Given the description of an element on the screen output the (x, y) to click on. 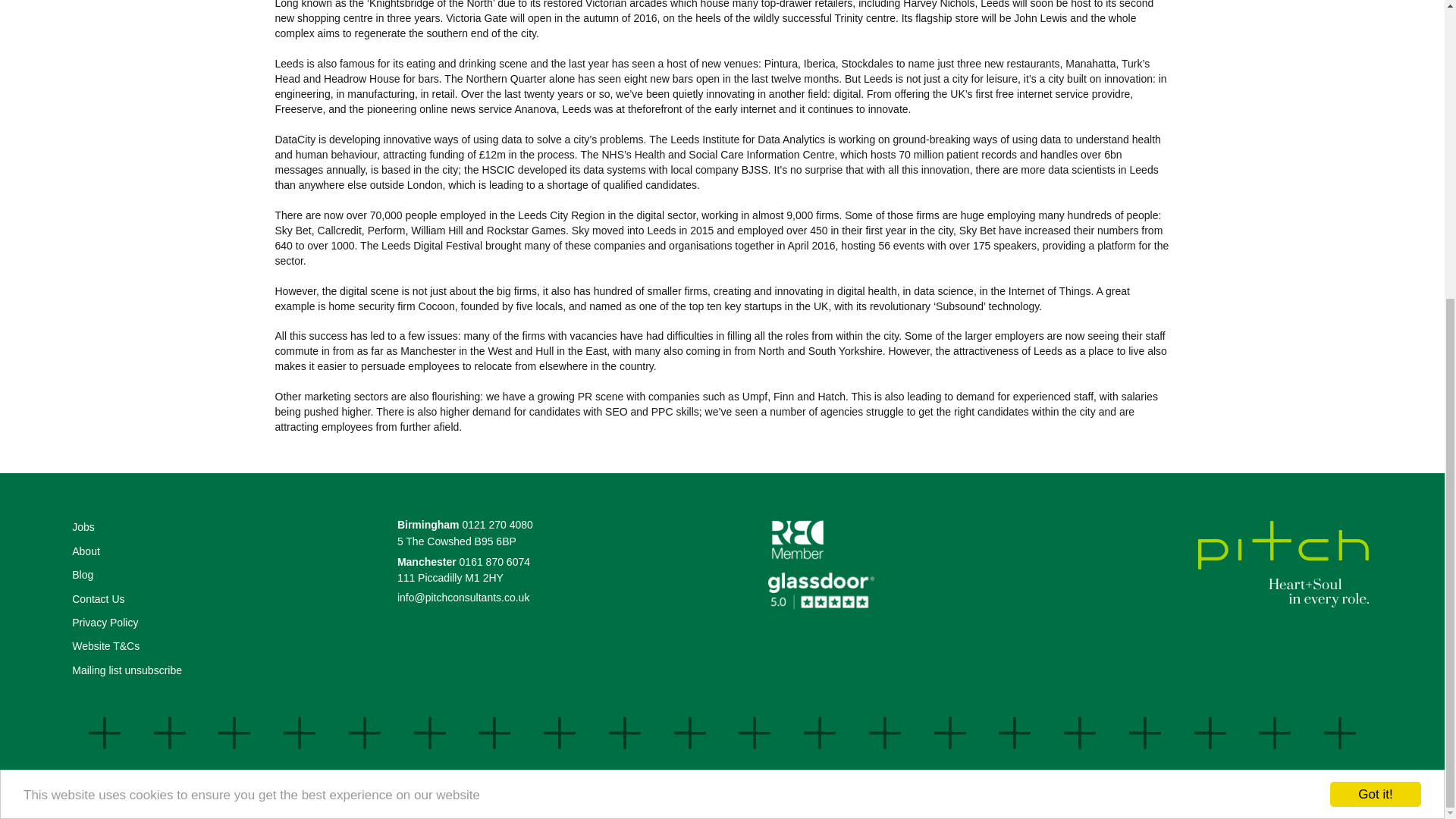
About (85, 551)
Jobs (82, 526)
Go to the Homepage (1283, 565)
